Given the description of an element on the screen output the (x, y) to click on. 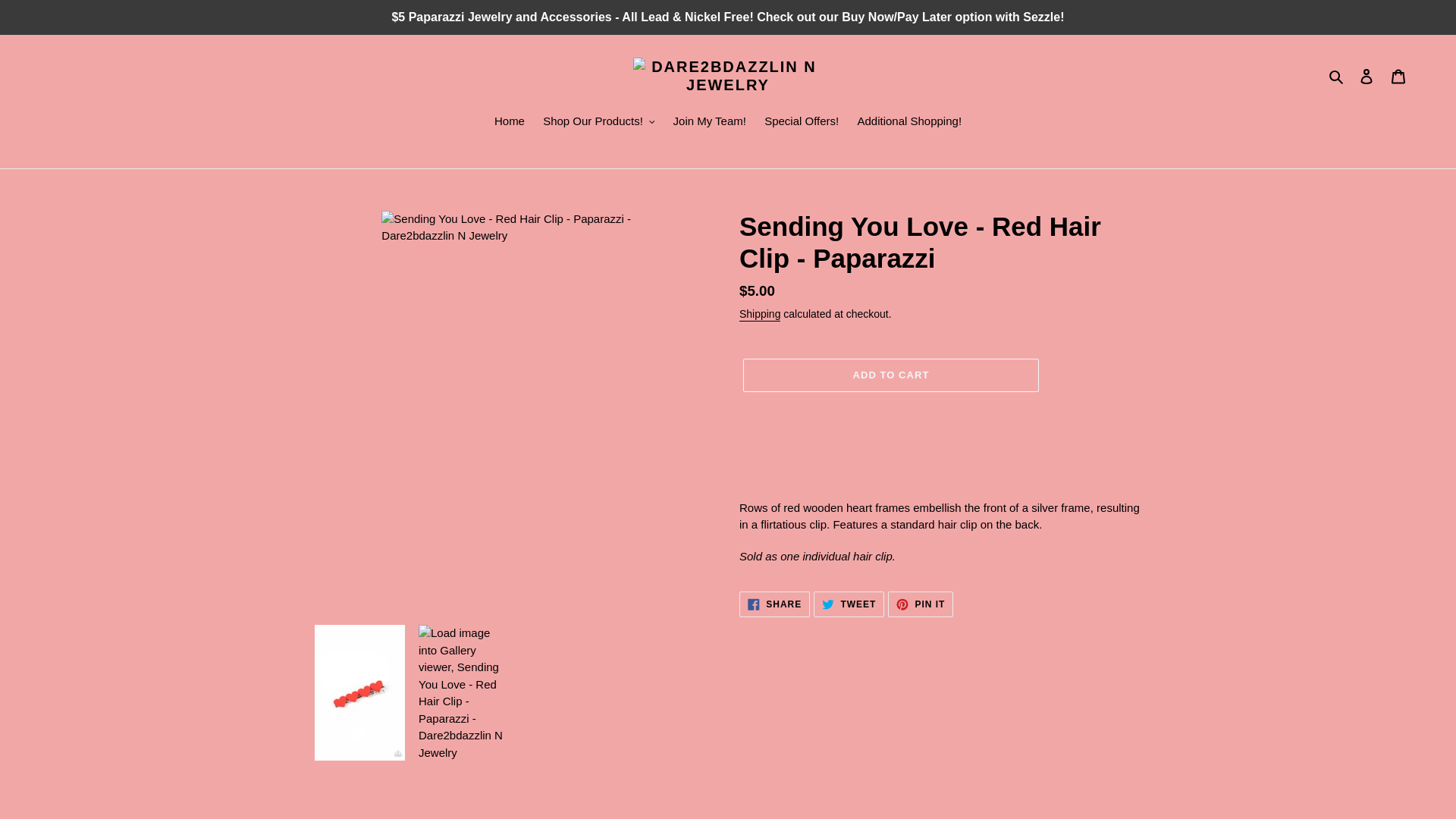
Log in (1366, 75)
Home (509, 122)
Cart (1397, 75)
Shop Our Products! (598, 122)
Search (1337, 75)
